Given the description of an element on the screen output the (x, y) to click on. 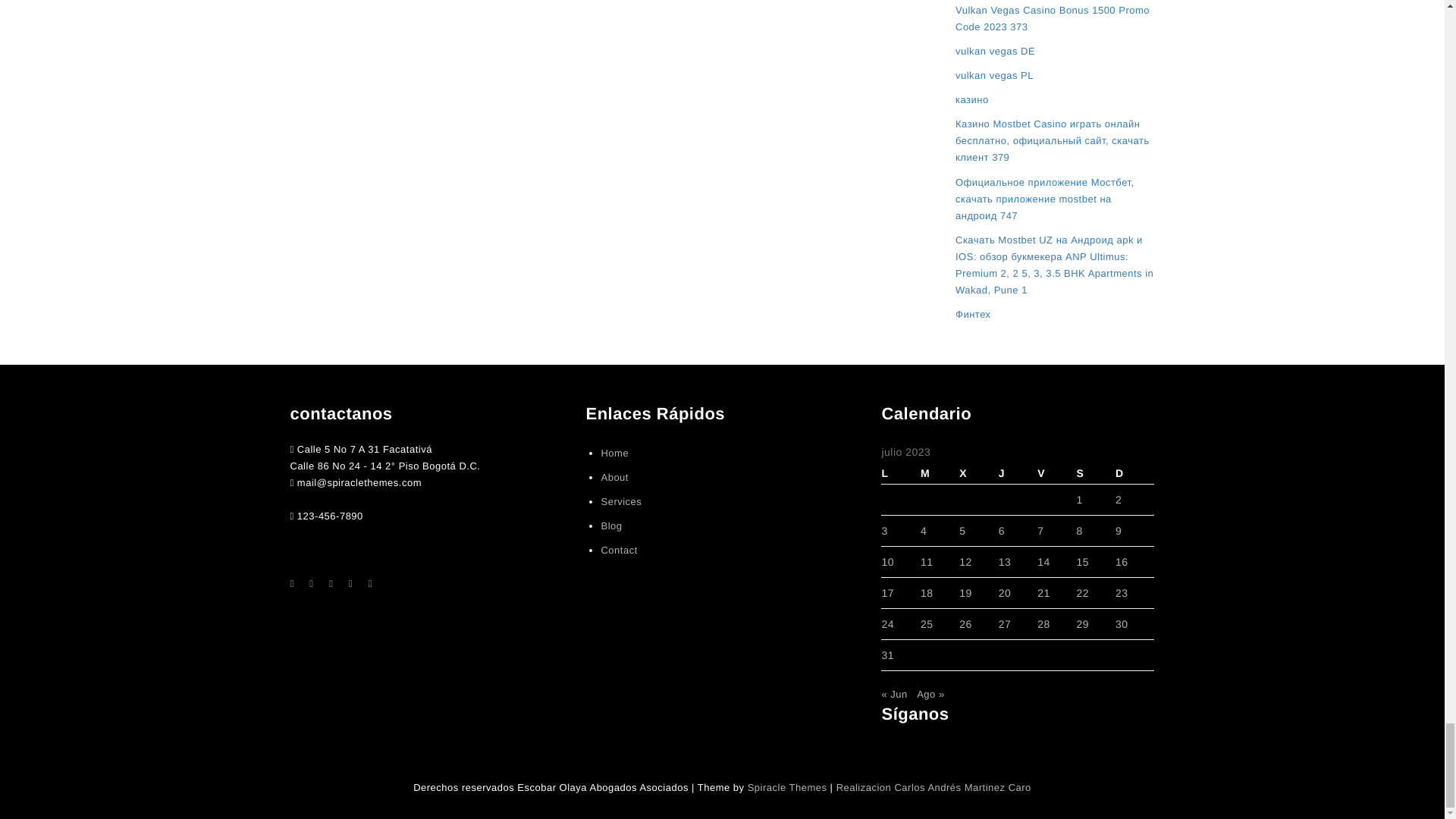
martes (939, 473)
domingo (1134, 473)
jueves (1017, 473)
viernes (1055, 473)
lunes (900, 473)
